Given the description of an element on the screen output the (x, y) to click on. 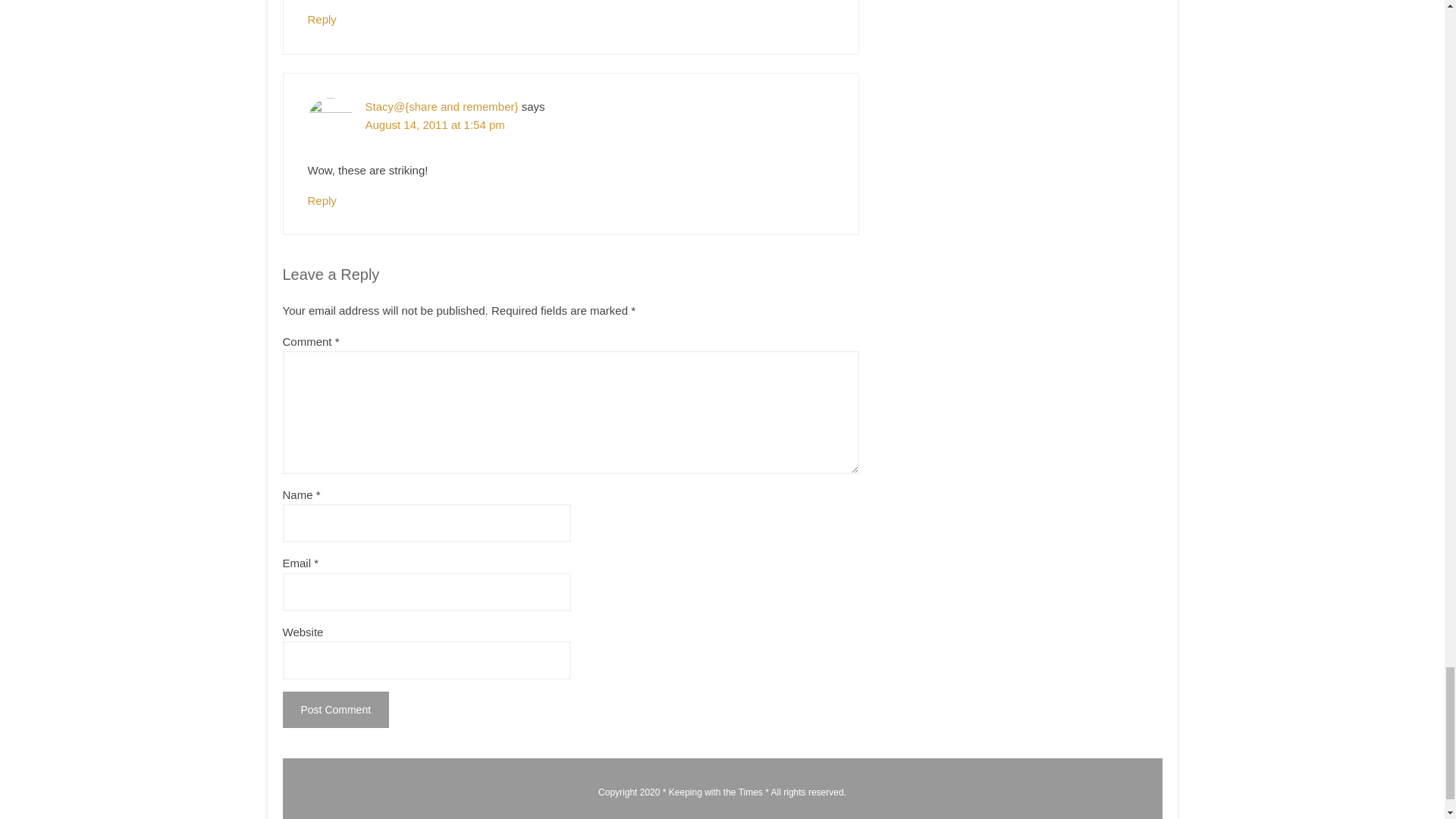
Post Comment (335, 709)
